Given the description of an element on the screen output the (x, y) to click on. 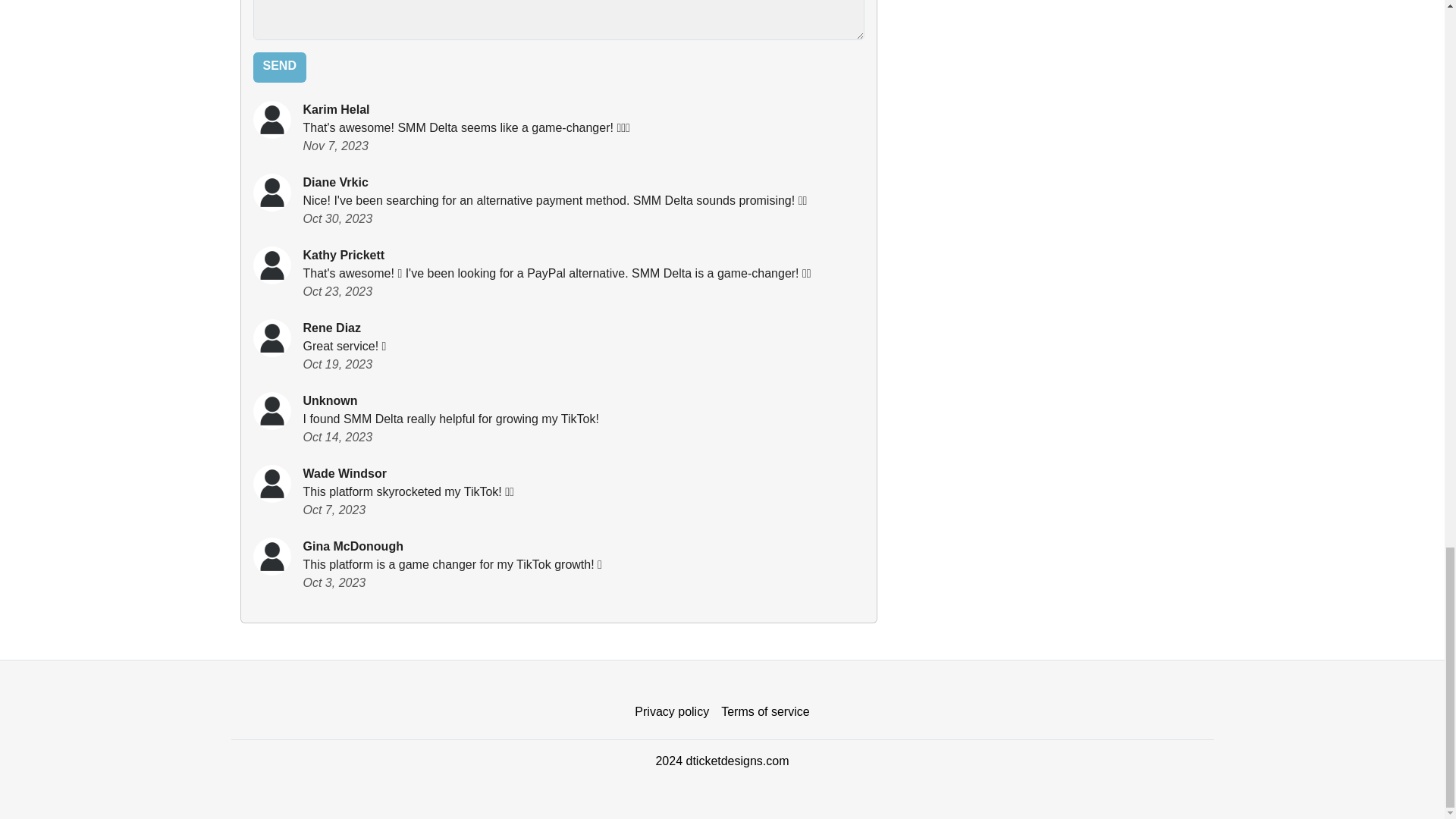
Send (279, 67)
Send (279, 67)
Terms of service (764, 711)
Privacy policy (671, 711)
